Given the description of an element on the screen output the (x, y) to click on. 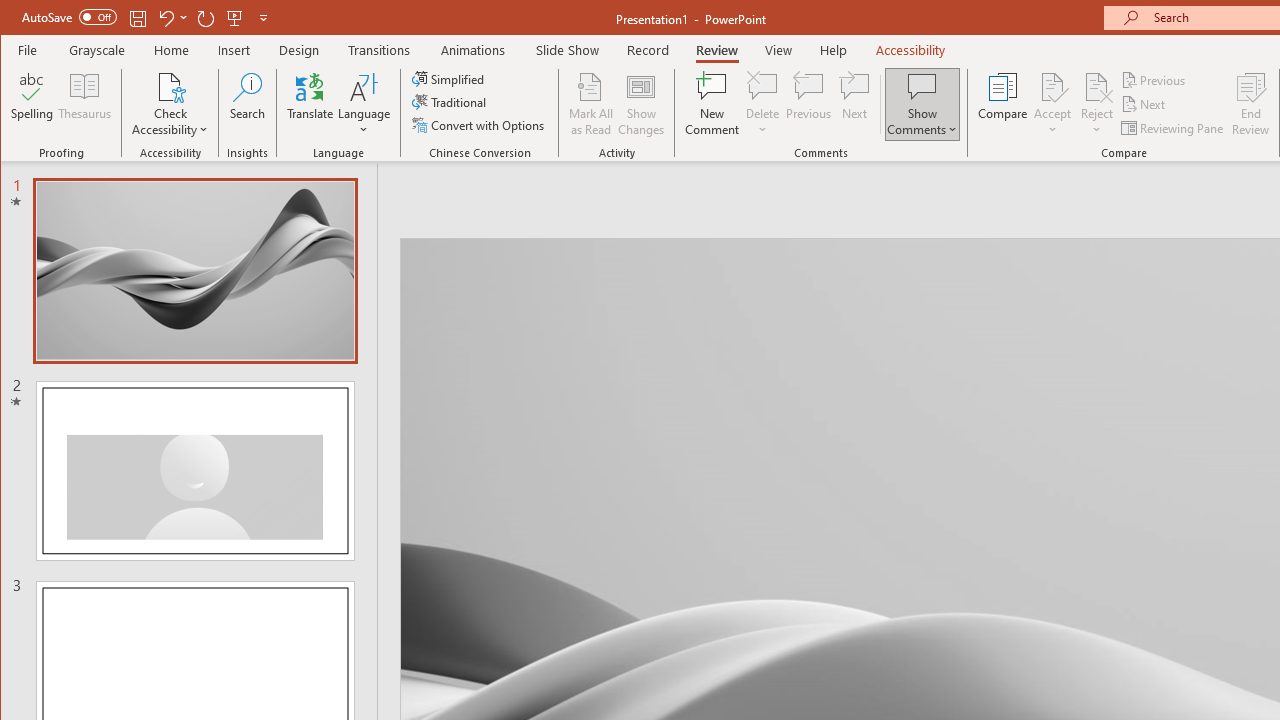
Home (171, 50)
Undo (171, 17)
Check Accessibility (170, 86)
Accept (1052, 104)
Accept Change (1052, 86)
Save (138, 17)
Delete (762, 86)
Undo (165, 17)
Redo (206, 17)
Record (648, 50)
Quick Access Toolbar (146, 17)
Compare (1002, 104)
Delete (762, 104)
Insert (233, 50)
Spelling... (32, 104)
